Given the description of an element on the screen output the (x, y) to click on. 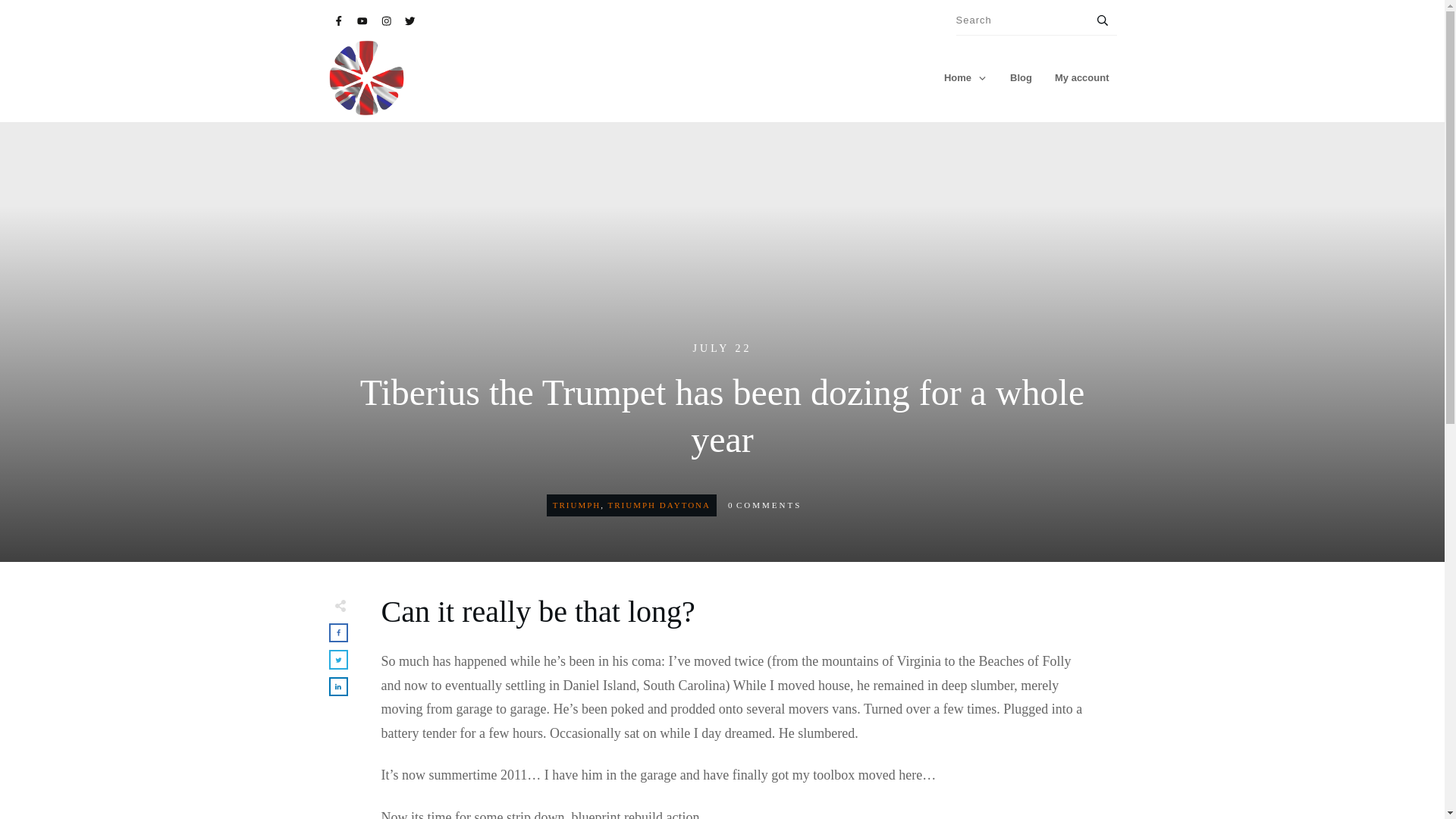
TRIUMPH DAYTONA (659, 504)
My account (1081, 77)
TRIUMPH (577, 504)
Triumph Daytona (659, 504)
Blog (1021, 77)
Home (965, 77)
Triumph (577, 504)
